Given the description of an element on the screen output the (x, y) to click on. 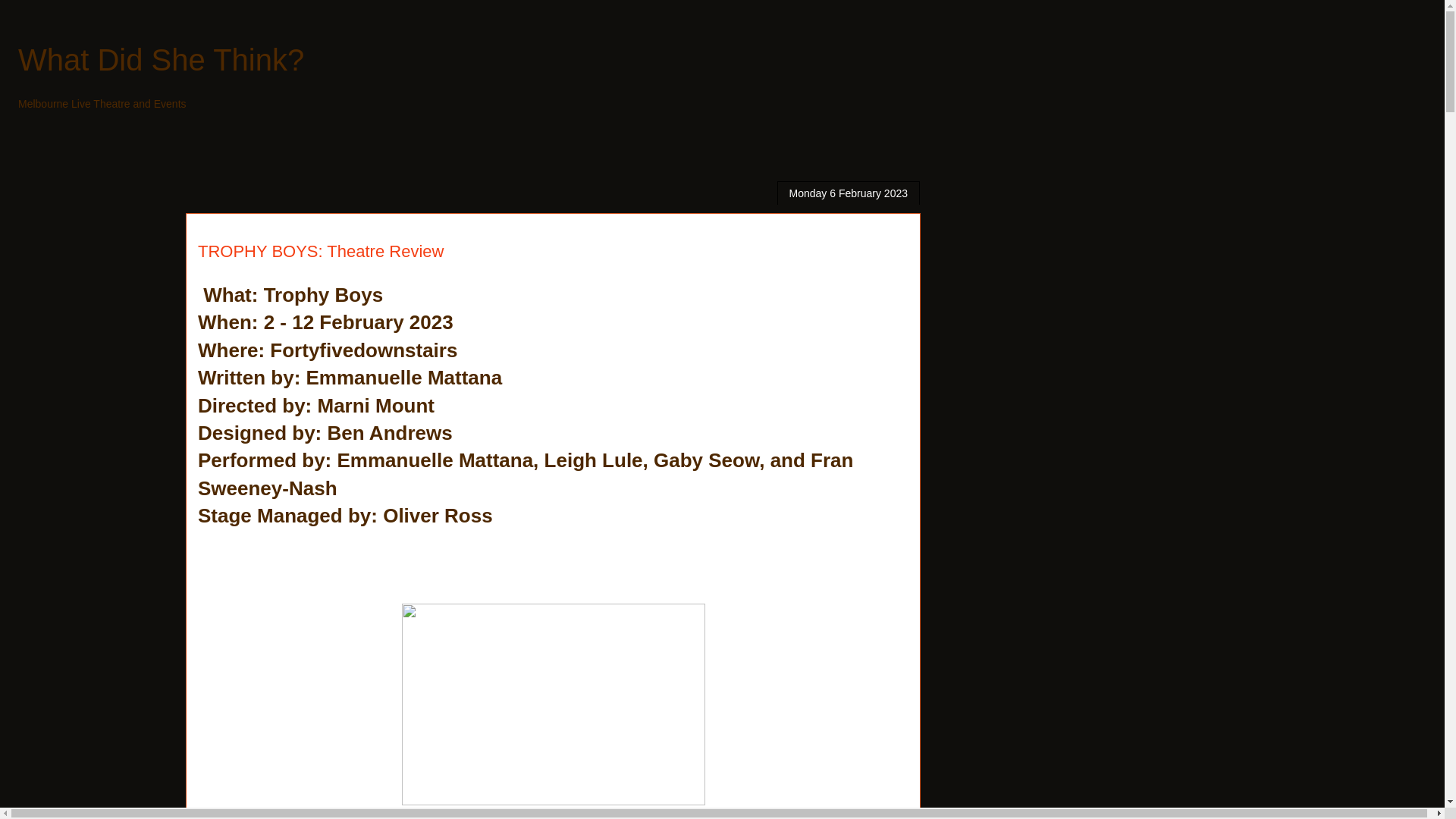
What Did She Think? (160, 59)
